Given the description of an element on the screen output the (x, y) to click on. 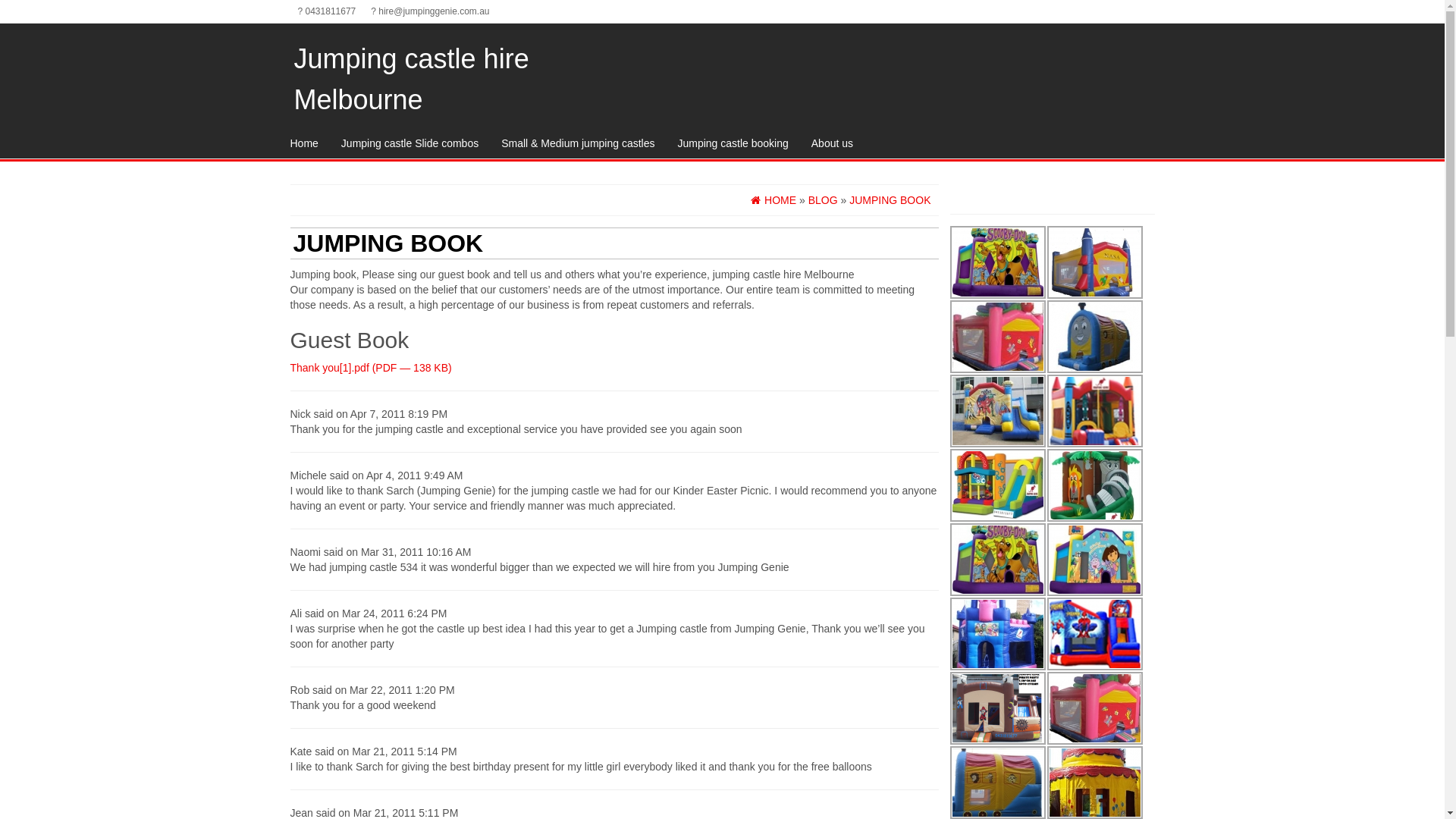
0_0_0_0_148_129_csupload_61233925.jpg Element type: hover (996, 336)
BLOG Element type: text (822, 200)
HOME Element type: text (773, 200)
? 0431811677 Element type: text (326, 11)
Jumping castle booking Element type: text (732, 143)
? hire@jumpinggenie.com.au Element type: text (429, 11)
Jumping castle 533.jpg Element type: hover (996, 484)
Jumping castle 511.jpg Element type: hover (1094, 707)
Scooby Doo  Castle 523.jpg Element type: hover (996, 559)
Jumping castle 534.jpg Element type: hover (1094, 484)
Jumping castle hire Melbourne Element type: text (411, 79)
Jumping castle 537.jpg Element type: hover (1094, 633)
Jumping castle 535.jpg Element type: hover (1094, 410)
Home Element type: text (304, 143)
0_0_0_0_178_130_csupload_61233981.jpg Element type: hover (1094, 336)
About us Element type: text (832, 143)
Dora the explorer Element type: hover (1094, 559)
JUMPING BOOK Element type: text (889, 200)
Small & Medium jumping castles Element type: text (577, 143)
0_0_0_0_250_188_csupload_49112220.jpg Element type: hover (996, 410)
rocket 05.jpg Element type: hover (1094, 261)
Jumping castle Slide combos Element type: text (409, 143)
Jumping castle 539.jpg Element type: hover (996, 633)
Jumping castle 536.png Element type: hover (996, 707)
scooby_doo2_jump_med.jpg Element type: hover (996, 261)
